Given the description of an element on the screen output the (x, y) to click on. 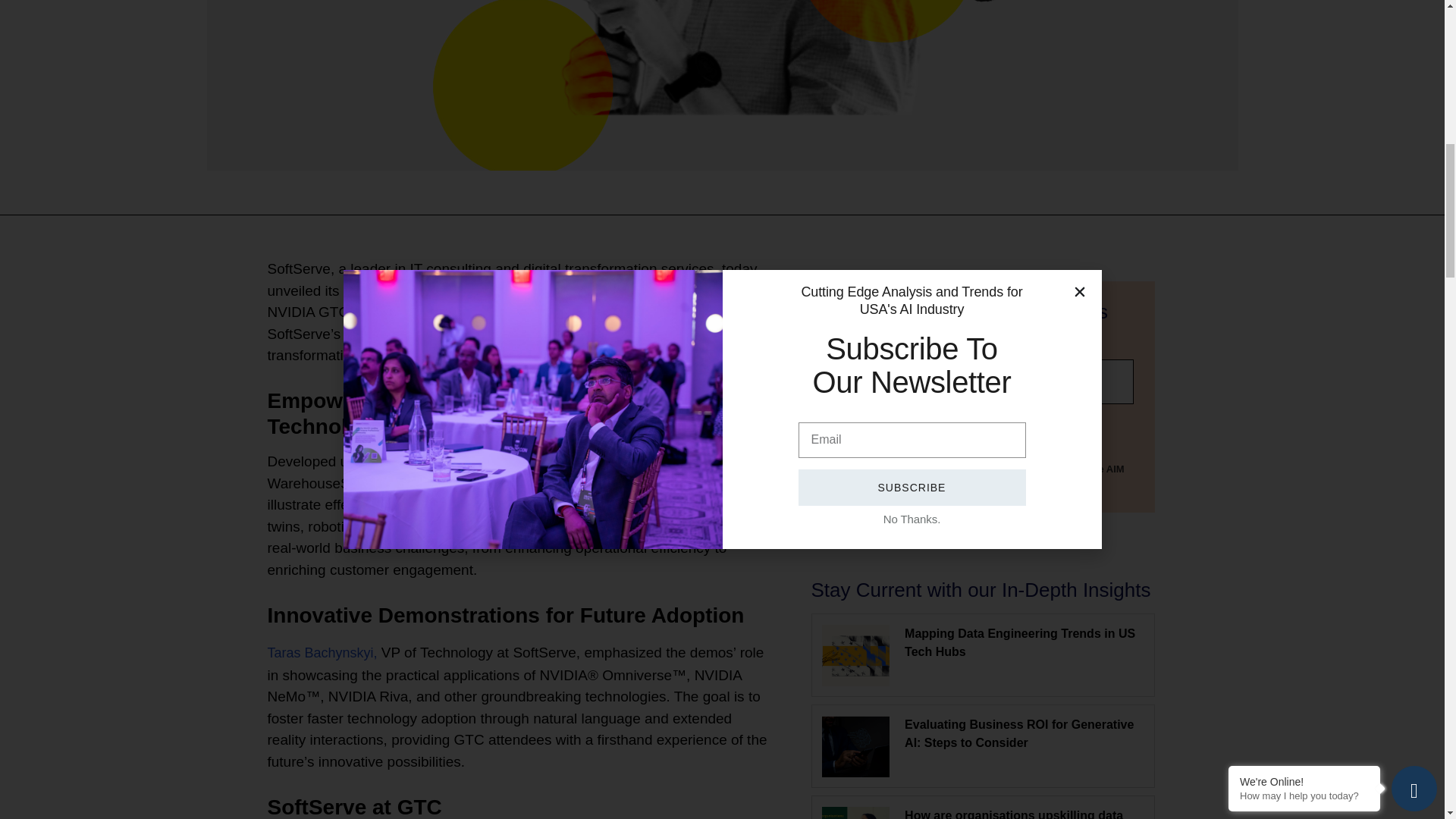
Subscribe (879, 428)
Taras Bachynskyi, (321, 652)
Mapping Data Engineering Trends in US Tech Hubs (1019, 642)
Evaluating Business ROI for Generative AI: Steps to Consider (1019, 733)
How are organisations upskilling data professionals? (1013, 814)
